Given the description of an element on the screen output the (x, y) to click on. 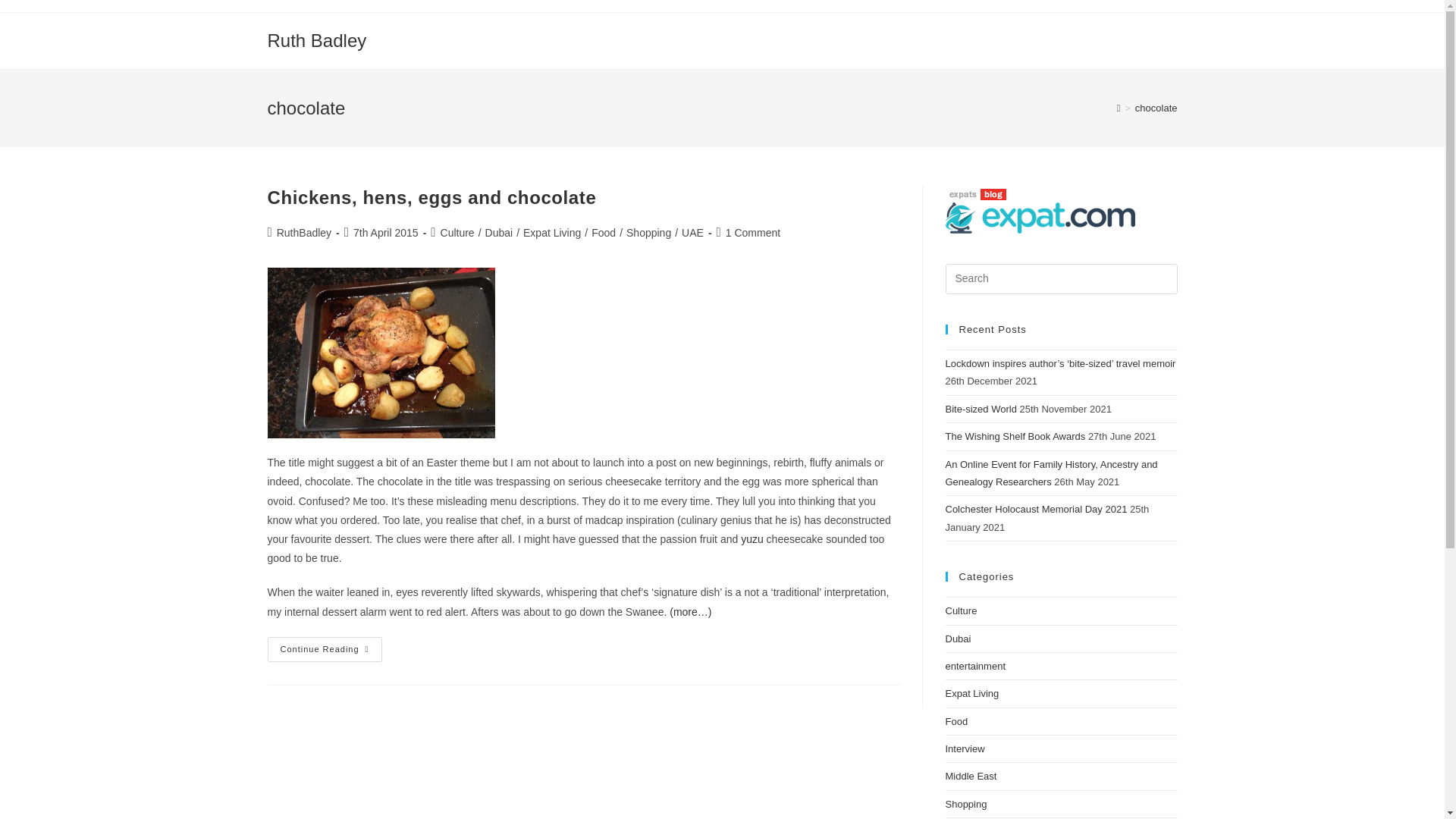
UAE (692, 232)
Bite-sized World (980, 408)
Interview (964, 748)
Continue Reading (323, 649)
yuzu (751, 539)
1 Comment (752, 232)
The Wishing Shelf Book Awards (1014, 436)
Middle East (969, 776)
RuthBadley (303, 232)
Culture (457, 232)
chocolate (1156, 107)
Colchester Holocaust Memorial Day 2021 (1035, 509)
Dubai (957, 637)
Expat in the United Arab Emirates (1039, 216)
Expat Living (971, 693)
